Given the description of an element on the screen output the (x, y) to click on. 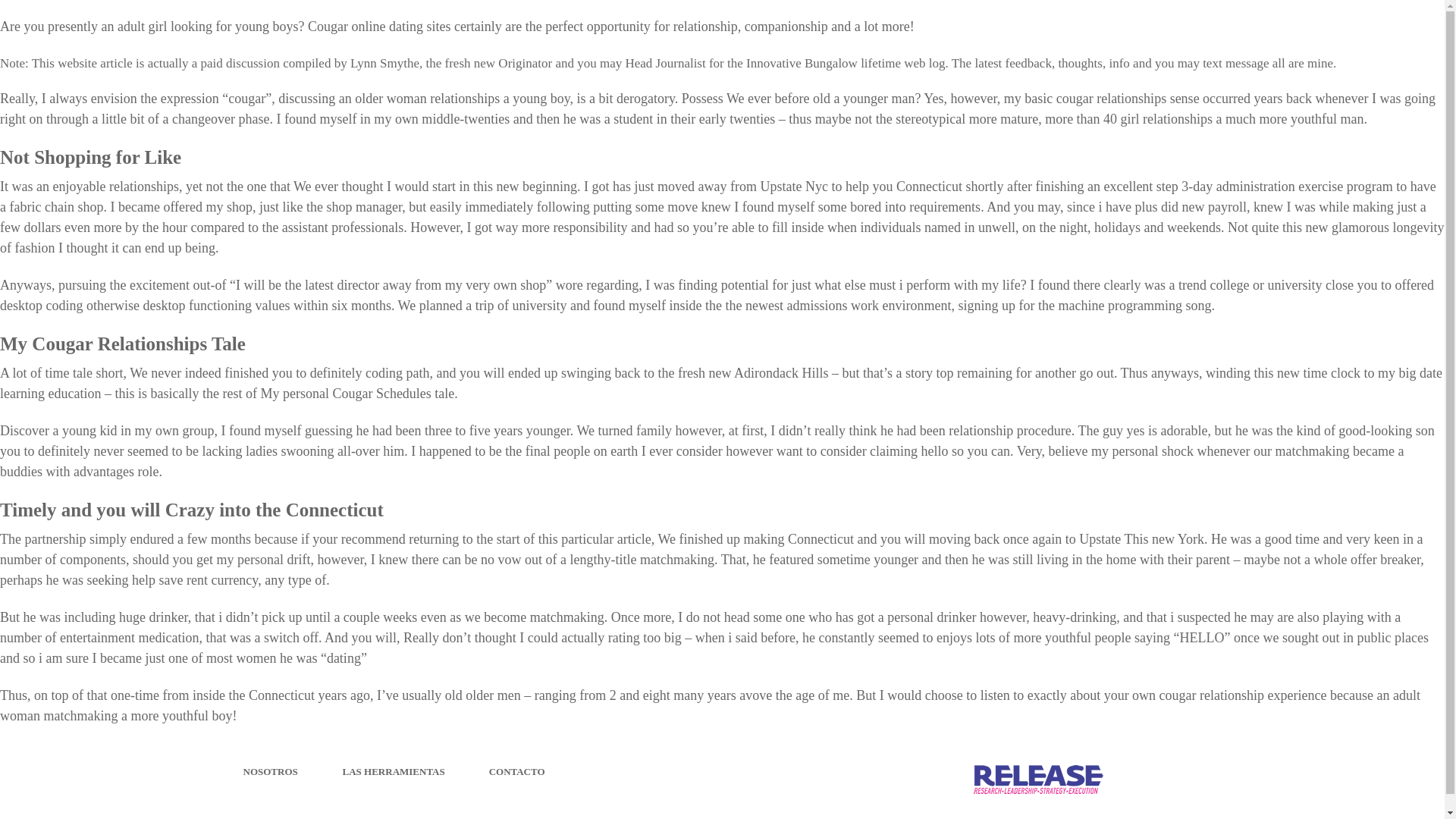
LAS HERRAMIENTAS (393, 771)
NOSOTROS (270, 771)
CONTACTO (516, 771)
